Given the description of an element on the screen output the (x, y) to click on. 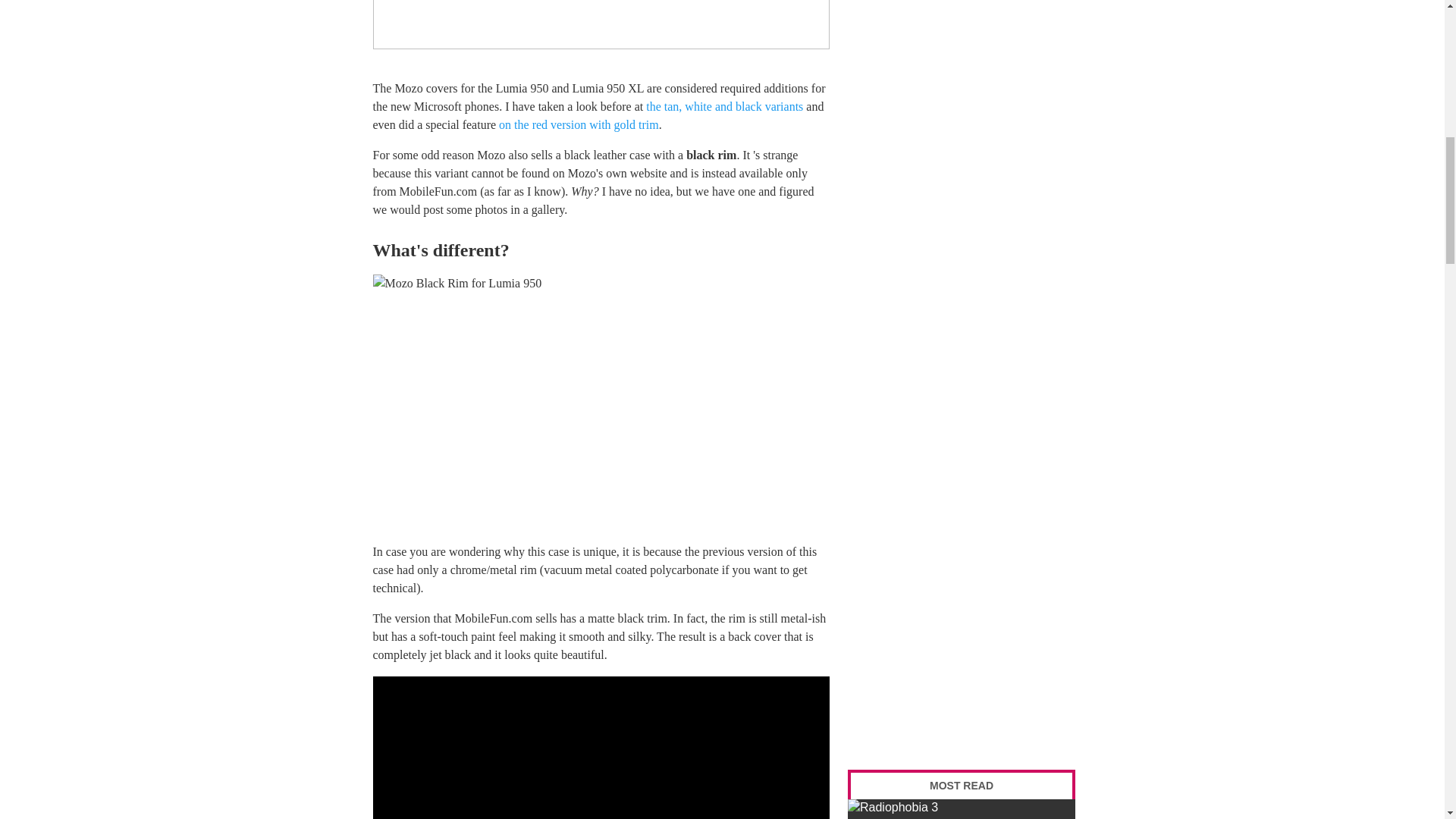
on the red version with gold trim (579, 124)
the tan, white and black variants (724, 106)
